Given the description of an element on the screen output the (x, y) to click on. 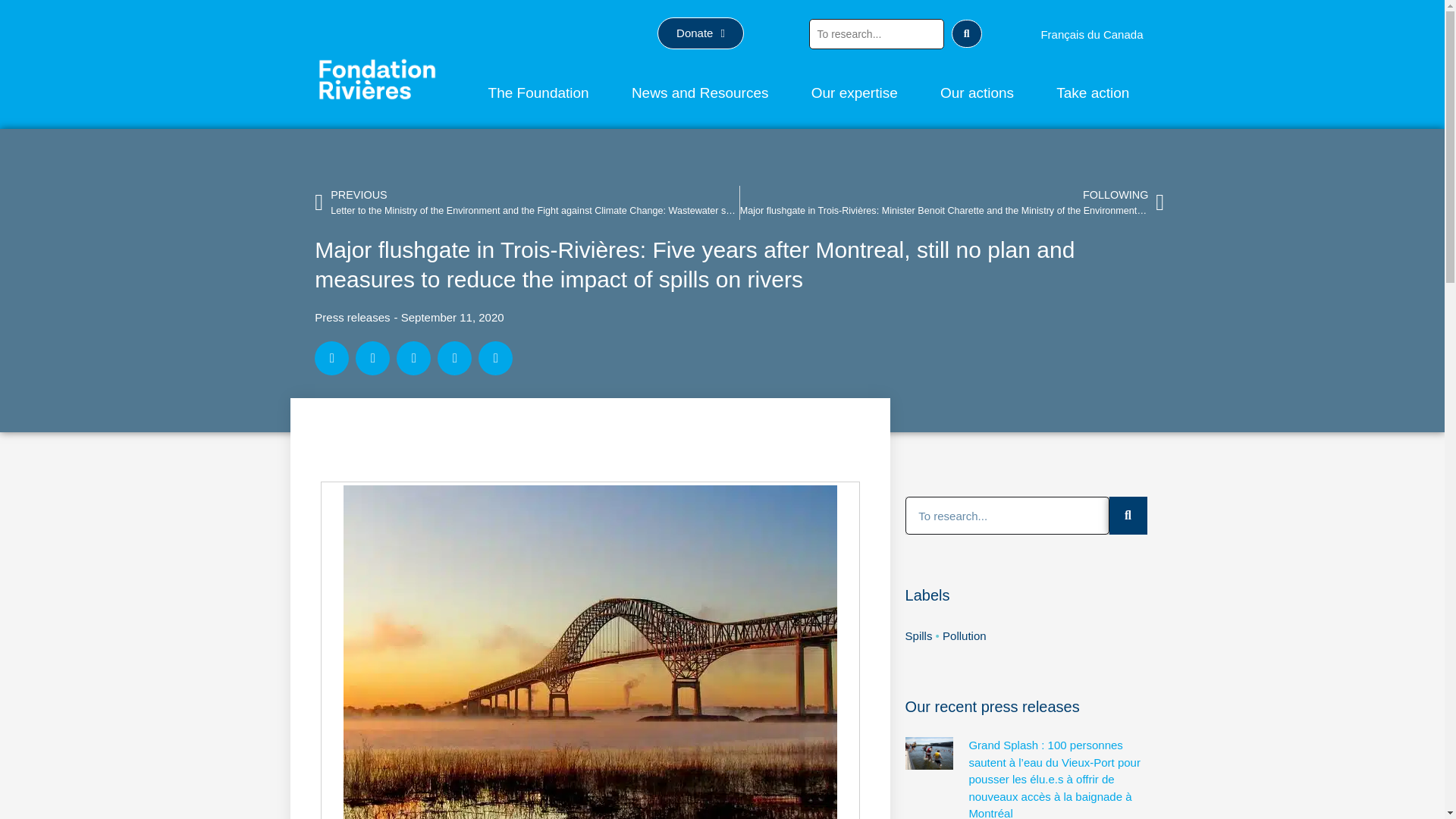
News and Resources (700, 93)
Donate (701, 33)
The Foundation (537, 93)
Our expertise (854, 93)
Our actions (976, 93)
